Given the description of an element on the screen output the (x, y) to click on. 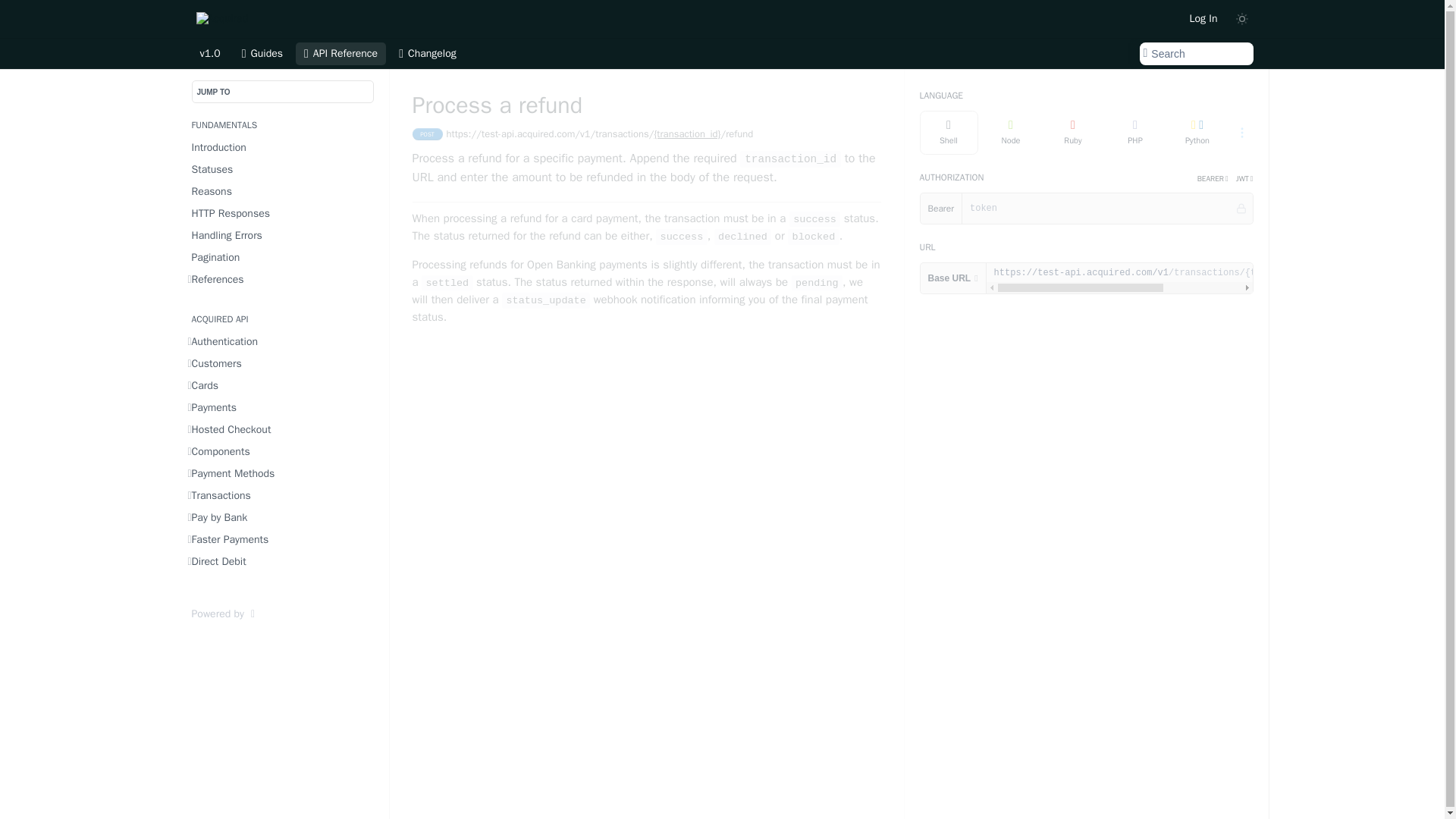
Statuses (282, 168)
References (282, 279)
Reasons (282, 190)
Pagination (282, 257)
Customers (282, 362)
Authentication (282, 341)
Handling Errors (282, 235)
Introduction (282, 147)
Log In (1202, 18)
JUMP TO (281, 91)
Changelog (427, 53)
HTTP Responses (282, 213)
Cards (282, 385)
API Reference (340, 53)
Search (1195, 53)
